Given the description of an element on the screen output the (x, y) to click on. 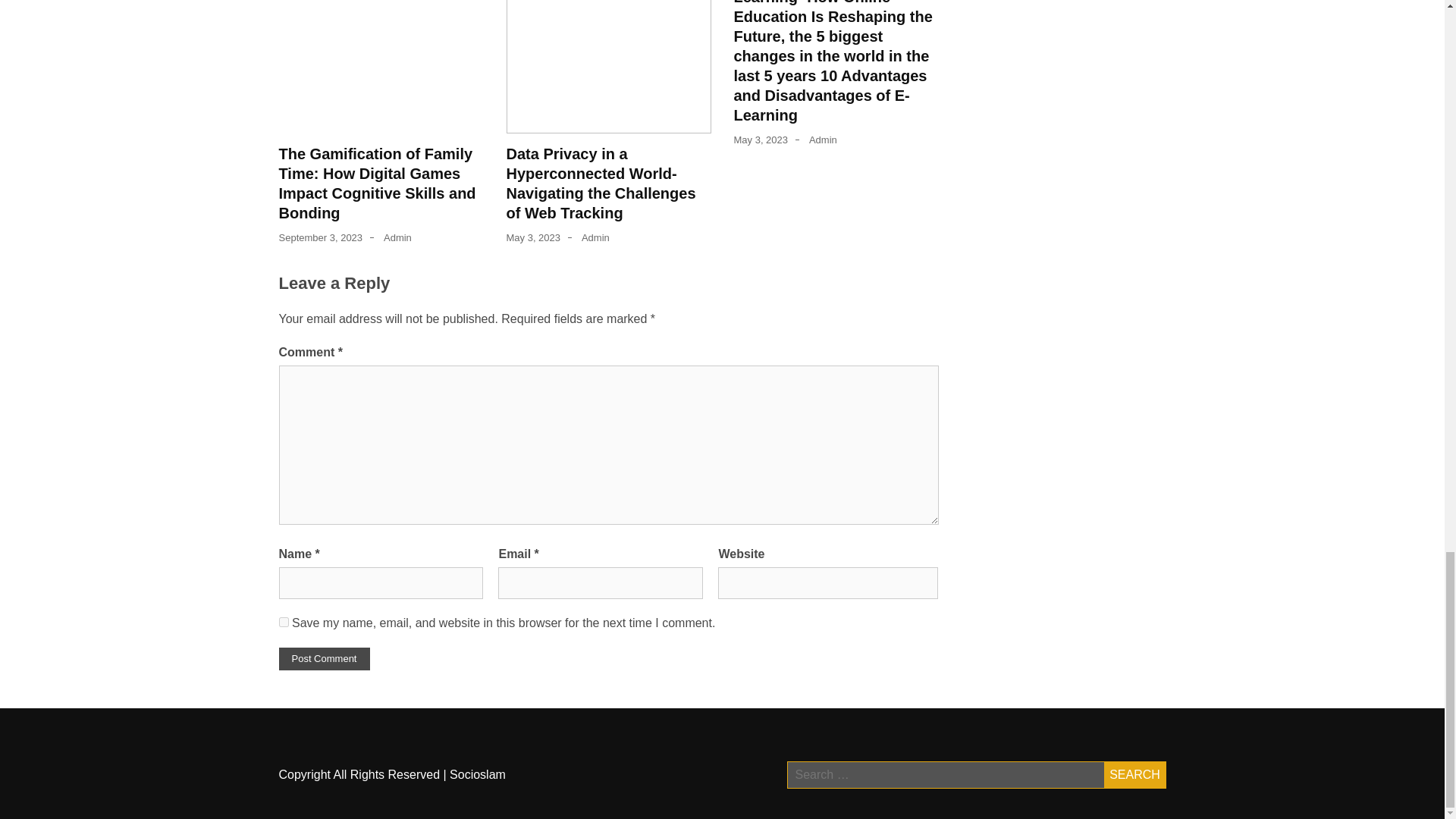
yes (283, 622)
Search (1134, 774)
Post Comment (324, 658)
Search (1134, 774)
